Given the description of an element on the screen output the (x, y) to click on. 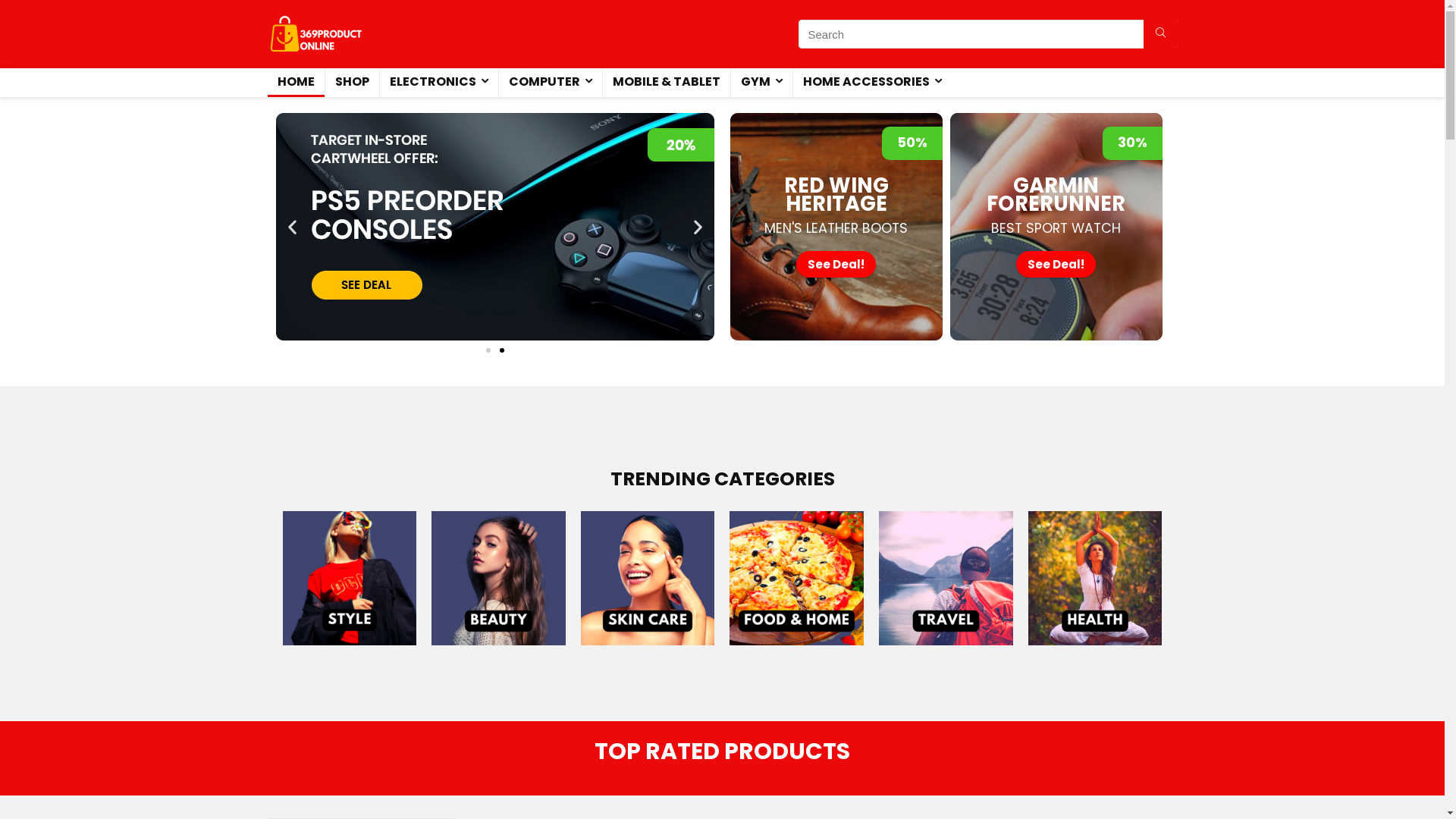
COMPUTER Element type: text (550, 82)
ELECTRONICS Element type: text (438, 82)
HOME Element type: text (294, 82)
GYM Element type: text (761, 82)
MOBILE & TABLET Element type: text (665, 82)
GARMIN FORERUNNER
BEST SPORT WATCH
See Deal! Element type: text (1055, 226)
SHOP Element type: text (351, 82)
HOME ACCESSORIES Element type: text (872, 82)
RED WING HERITAGE
MEN'S LEATHER BOOTS
See Deal! Element type: text (835, 226)
